Given the description of an element on the screen output the (x, y) to click on. 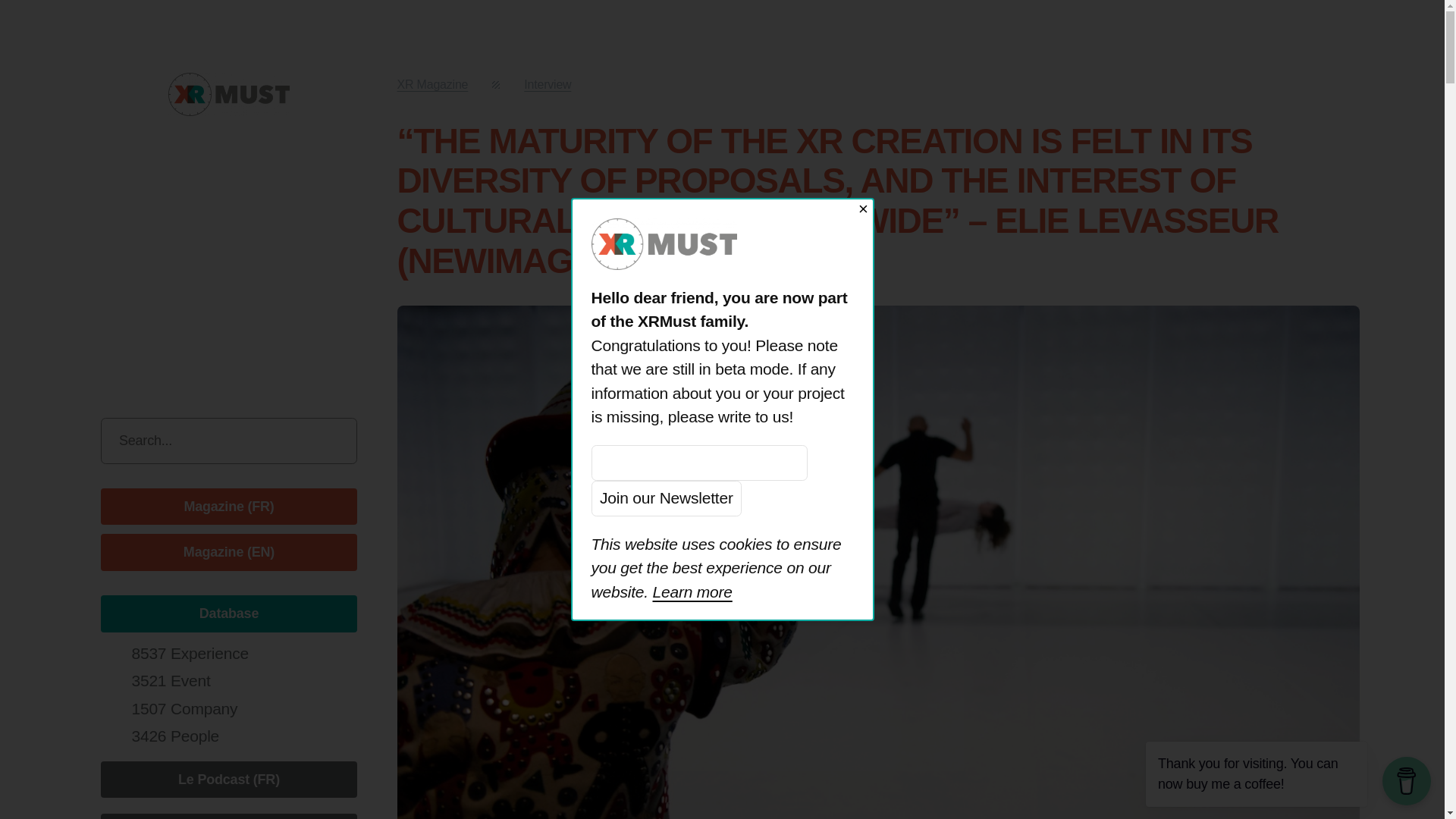
3426 People (175, 735)
Database (228, 613)
XR Magazine (432, 83)
Join our Newsletter (666, 498)
Interview (547, 83)
Login (162, 339)
3521 Event (170, 680)
1507 Company (184, 708)
8537 Experience (189, 652)
About Us (228, 816)
